Given the description of an element on the screen output the (x, y) to click on. 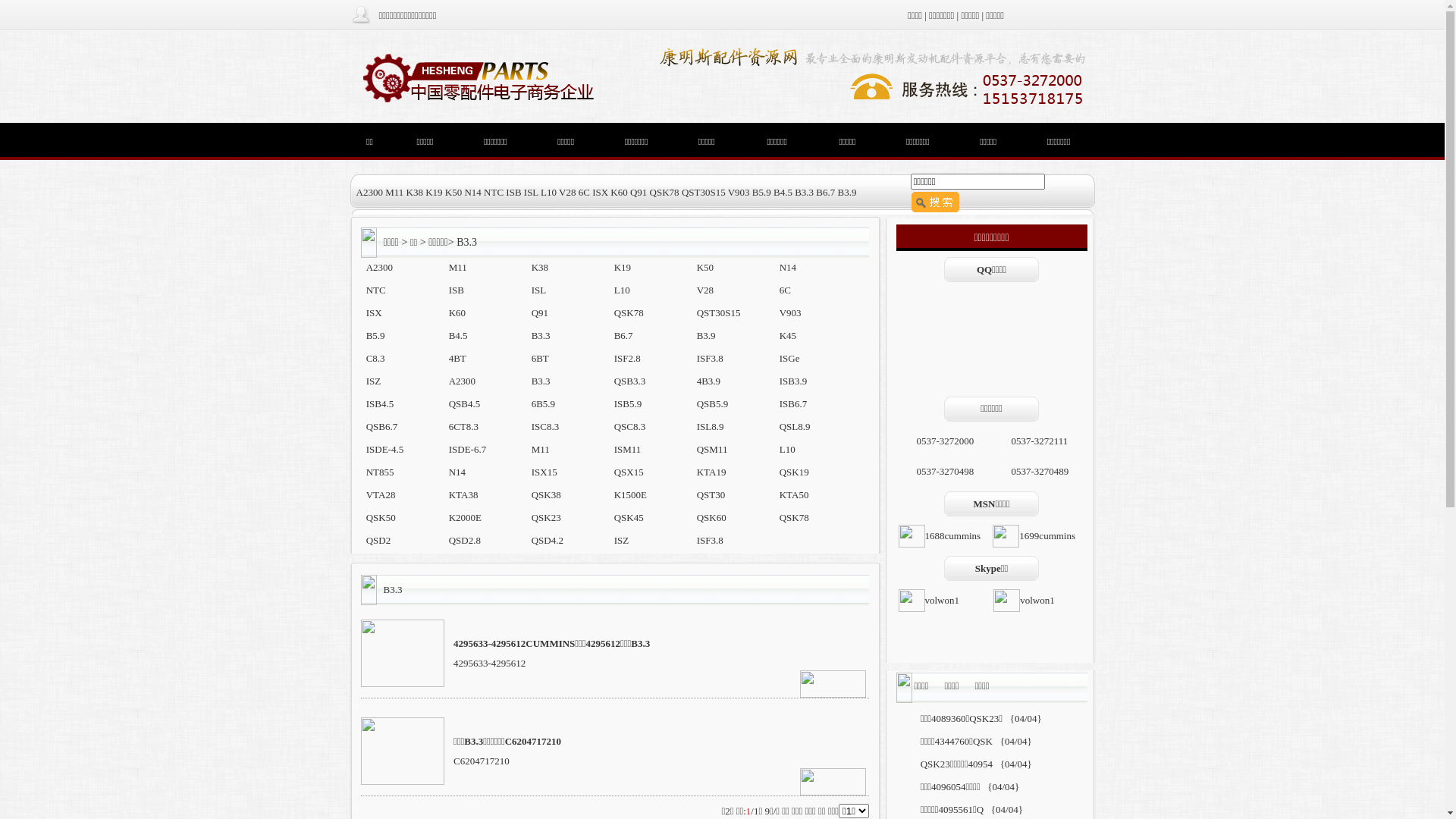
K50 Element type: text (453, 191)
ISZ Element type: text (373, 380)
K2000E Element type: text (464, 517)
QSD4.2 Element type: text (547, 540)
B3.3 Element type: text (803, 191)
6B5.9 Element type: text (543, 403)
NTC Element type: text (375, 289)
QSB6.7 Element type: text (382, 426)
ISX15 Element type: text (544, 471)
V28 Element type: text (704, 289)
C8.3 Element type: text (375, 358)
B5.9 Element type: text (761, 191)
V903 Element type: text (738, 191)
Q91 Element type: text (638, 191)
K45 Element type: text (787, 335)
K19 Element type: text (622, 267)
ISX Element type: text (600, 191)
ISF3.8 Element type: text (709, 540)
QSK19 Element type: text (794, 471)
NT855 Element type: text (380, 471)
QSD2.8 Element type: text (464, 540)
QSK78 Element type: text (628, 312)
K60 Element type: text (456, 312)
K60 Element type: text (618, 191)
Q91 Element type: text (539, 312)
K38 Element type: text (539, 267)
VTA28 Element type: text (380, 494)
ISDE-4.5 Element type: text (384, 449)
M11 Element type: text (457, 267)
ISB3.9 Element type: text (792, 380)
QSM11 Element type: text (712, 449)
6BT Element type: text (540, 358)
ISB Element type: text (456, 289)
B3.3 Element type: text (540, 380)
6C Element type: text (583, 191)
6CT8.3 Element type: text (463, 426)
QSX15 Element type: text (628, 471)
A2300 Element type: text (379, 267)
QSK45 Element type: text (628, 517)
QSK50 Element type: text (380, 517)
QSL8.9 Element type: text (794, 426)
ISB4.5 Element type: text (379, 403)
QSK78 Element type: text (664, 191)
QSB4.5 Element type: text (464, 403)
ISF3.8 Element type: text (709, 358)
ISL Element type: text (538, 289)
ISB Element type: text (512, 191)
NTC Element type: text (493, 191)
QSB3.3 Element type: text (630, 380)
K38 Element type: text (414, 191)
ISL Element type: text (531, 191)
L10 Element type: text (548, 191)
M11 Element type: text (394, 191)
B5.9 Element type: text (375, 335)
ISC8.3 Element type: text (544, 426)
KTA38 Element type: text (463, 494)
L10 Element type: text (787, 449)
N14 Element type: text (787, 267)
QSK60 Element type: text (711, 517)
   Element type: text (380, 241)
ISDE-6.7 Element type: text (467, 449)
QST30S15 Element type: text (703, 191)
K50 Element type: text (704, 267)
B3.9 Element type: text (705, 335)
QST30 Element type: text (710, 494)
A2300 Element type: text (461, 380)
QST30S15 Element type: text (718, 312)
B3.3 Element type: text (540, 335)
   Element type: text (380, 589)
QSK78 Element type: text (794, 517)
4B3.9 Element type: text (708, 380)
ISZ Element type: text (621, 540)
V28 Element type: text (566, 191)
ISB6.7 Element type: text (792, 403)
QSC8.3 Element type: text (630, 426)
ISF2.8 Element type: text (627, 358)
N14 Element type: text (456, 471)
KTA19 Element type: text (711, 471)
K19 Element type: text (433, 191)
L10 Element type: text (622, 289)
N14 Element type: text (472, 191)
4BT Element type: text (457, 358)
B4.5 Element type: text (782, 191)
KTA50 Element type: text (794, 494)
B3.9 Element type: text (846, 191)
B6.7 Element type: text (623, 335)
QSK38 Element type: text (546, 494)
6C Element type: text (784, 289)
B4.5 Element type: text (457, 335)
A2300 Element type: text (369, 191)
ISGe Element type: text (789, 358)
QSD2 Element type: text (378, 540)
ISB5.9 Element type: text (627, 403)
ISL8.9 Element type: text (710, 426)
V903 Element type: text (790, 312)
ISX Element type: text (374, 312)
M11 Element type: text (540, 449)
B6.7 Element type: text (824, 191)
QSB5.9 Element type: text (712, 403)
ISM11 Element type: text (627, 449)
QSK23 Element type: text (546, 517)
K1500E Element type: text (630, 494)
